Given the description of an element on the screen output the (x, y) to click on. 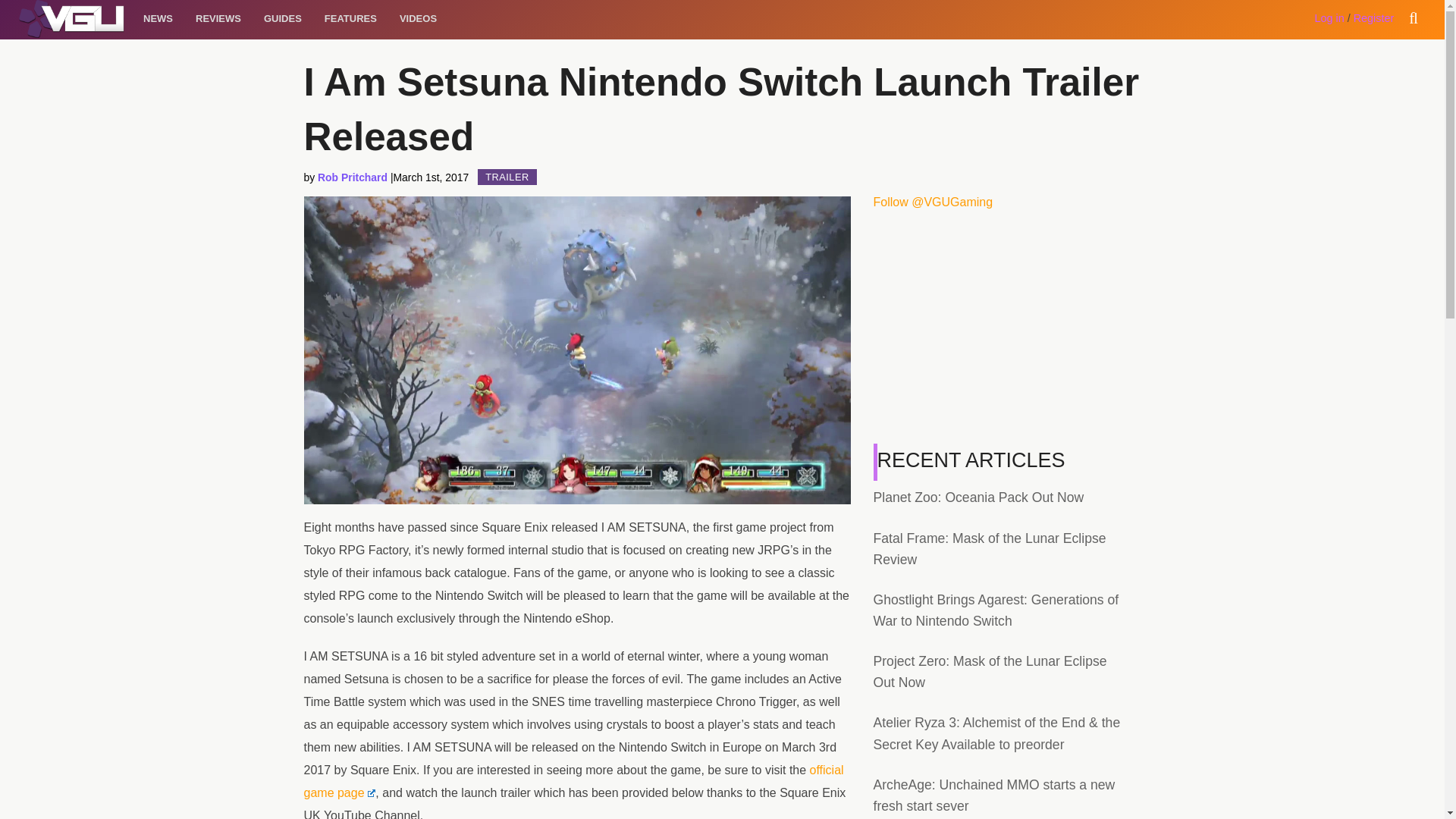
REVIEWS (217, 18)
Log in (1328, 18)
FEATURES (350, 18)
Fatal Frame: Mask of the Lunar Eclipse Review (989, 548)
ArcheAge: Unchained MMO starts a new fresh start sever (994, 795)
official game page (572, 781)
Project Zero: Mask of the Lunar Eclipse Out Now (989, 671)
TRAILER (507, 176)
GUIDES (282, 18)
Planet Zoo: Oceania Pack Out Now (978, 497)
NEWS (158, 18)
VIDEOS (418, 18)
Register (1374, 18)
Advertisement (1001, 329)
